Given the description of an element on the screen output the (x, y) to click on. 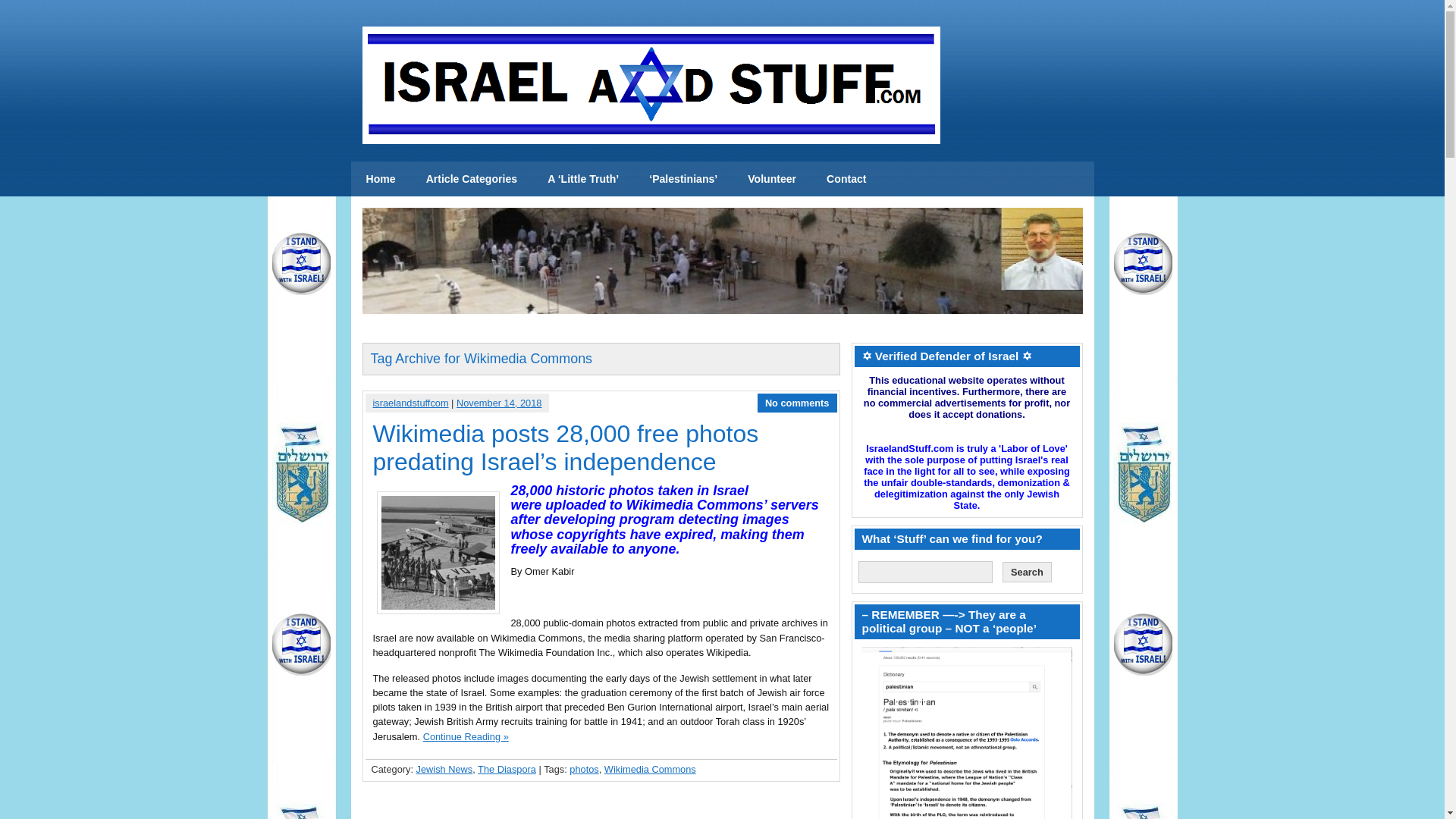
Jewish News (444, 768)
No comments (797, 402)
Contact (845, 178)
Home (380, 178)
news (380, 178)
Posts by israelandstuffcom (410, 402)
Search (1027, 571)
November 14, 2018 (499, 402)
Volunteer (771, 178)
israelandstuffcom (410, 402)
Article Categories (471, 178)
